Given the description of an element on the screen output the (x, y) to click on. 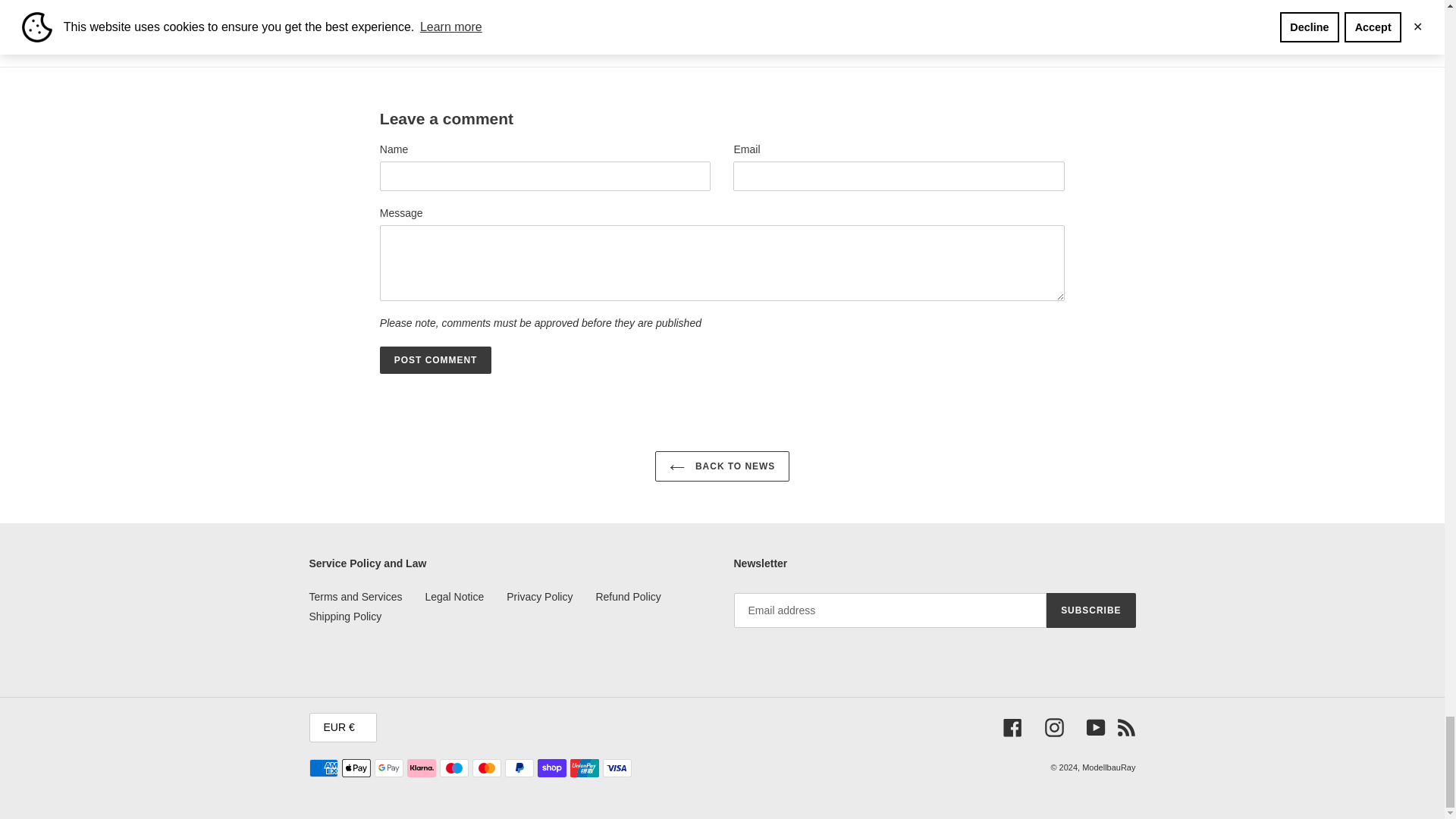
Post comment (436, 359)
